Given the description of an element on the screen output the (x, y) to click on. 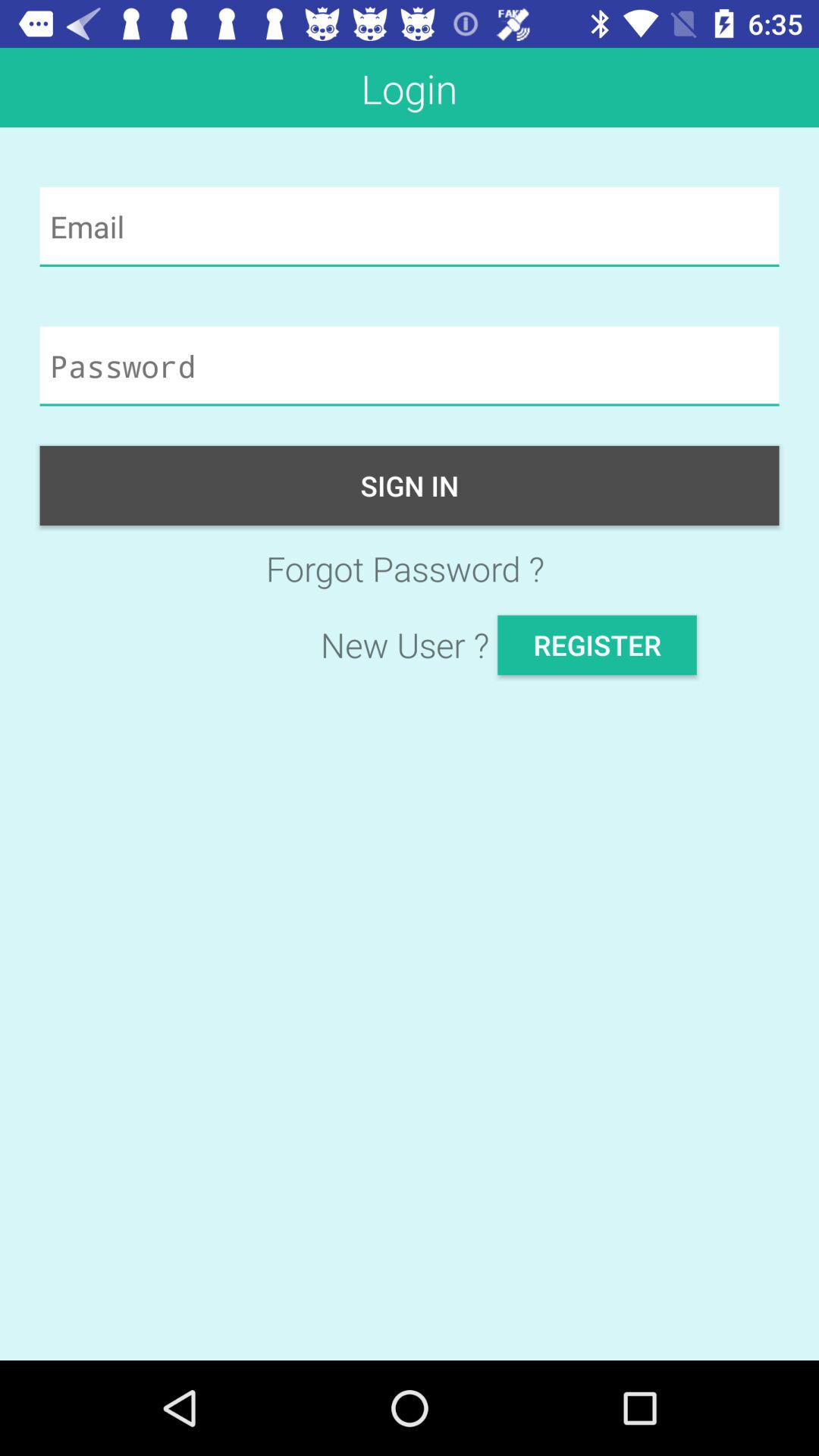
press the forgot password ? (409, 568)
